Given the description of an element on the screen output the (x, y) to click on. 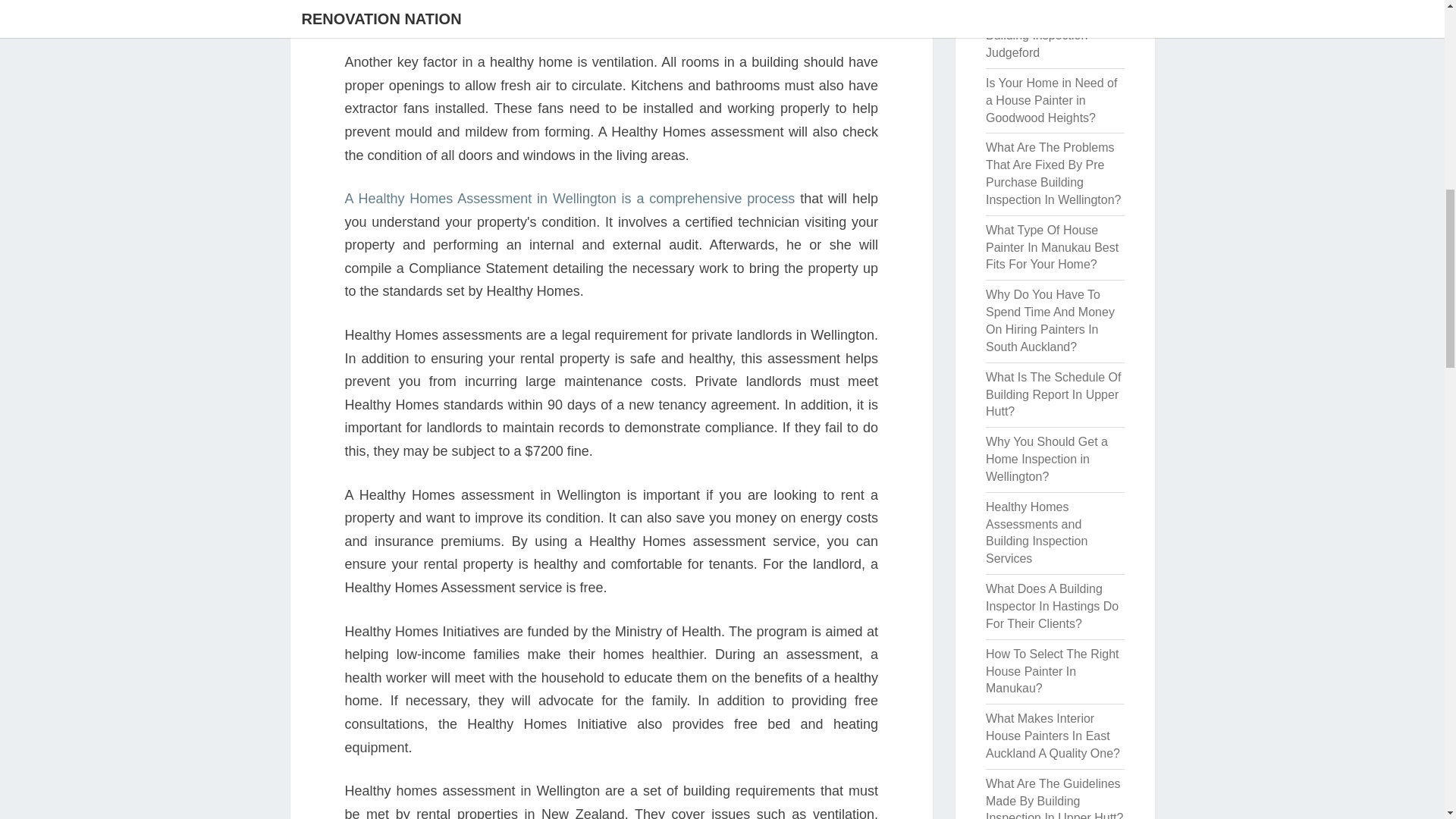
Healthy Homes Assessments and Building Inspection Services (1036, 532)
Is Your Home in Need of a House Painter in Goodwood Heights? (1050, 100)
How To Select The Right House Painter In Manukau? (1052, 671)
The Importance of Building Inspection Judgeford (1036, 34)
What Is The Schedule Of Building Report In Upper Hutt? (1053, 394)
Why You Should Get a Home Inspection in Wellington? (1046, 458)
